Given the description of an element on the screen output the (x, y) to click on. 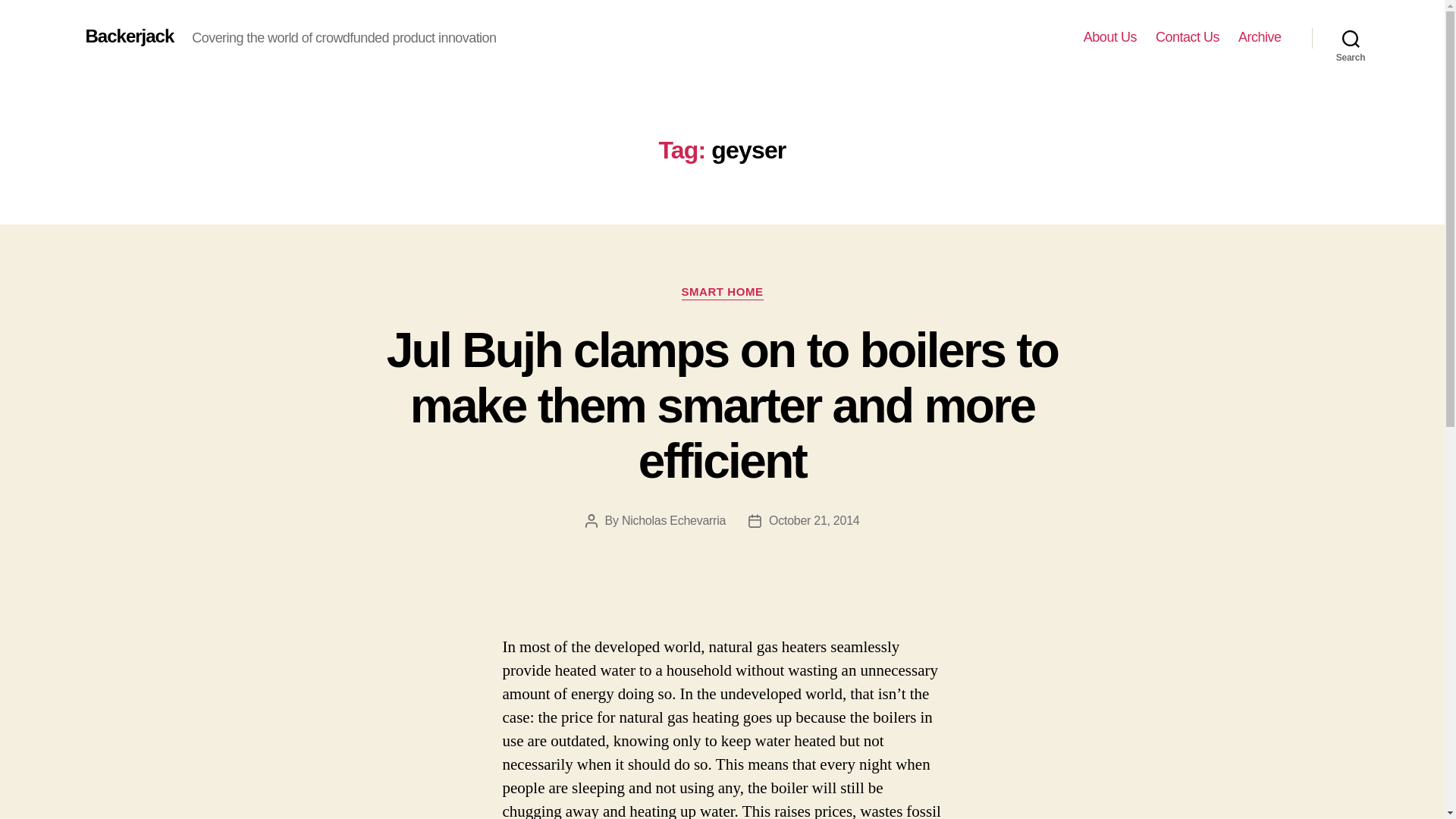
About Us (1110, 37)
Backerjack (128, 36)
Search (1350, 37)
Contact Us (1188, 37)
October 21, 2014 (813, 520)
Archive (1260, 37)
Nicholas Echevarria (673, 520)
SMART HOME (721, 292)
